Given the description of an element on the screen output the (x, y) to click on. 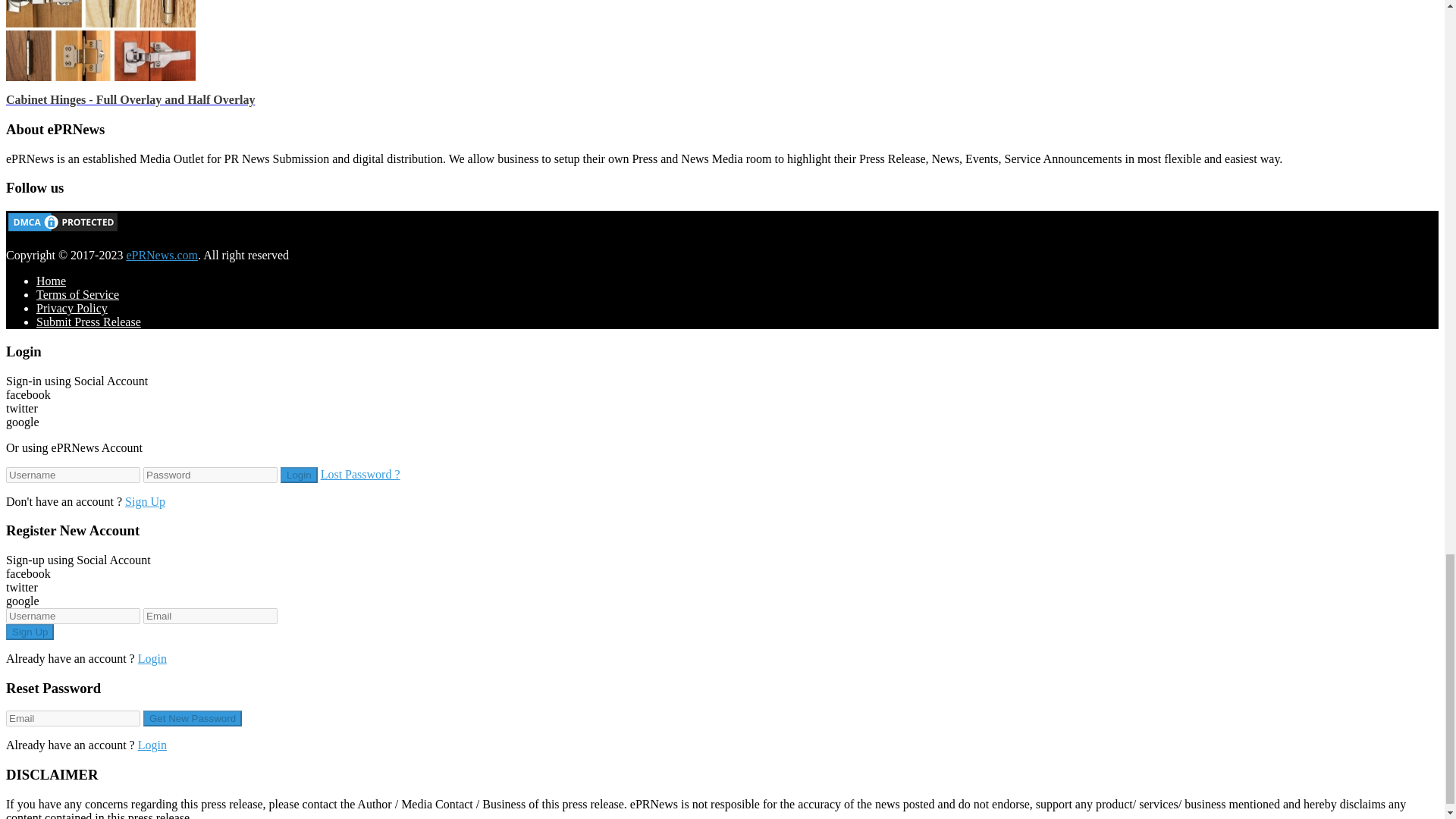
Login (299, 474)
Get New Password (191, 718)
DMCA.com Protection Status (62, 228)
Sign Up (29, 631)
